Given the description of an element on the screen output the (x, y) to click on. 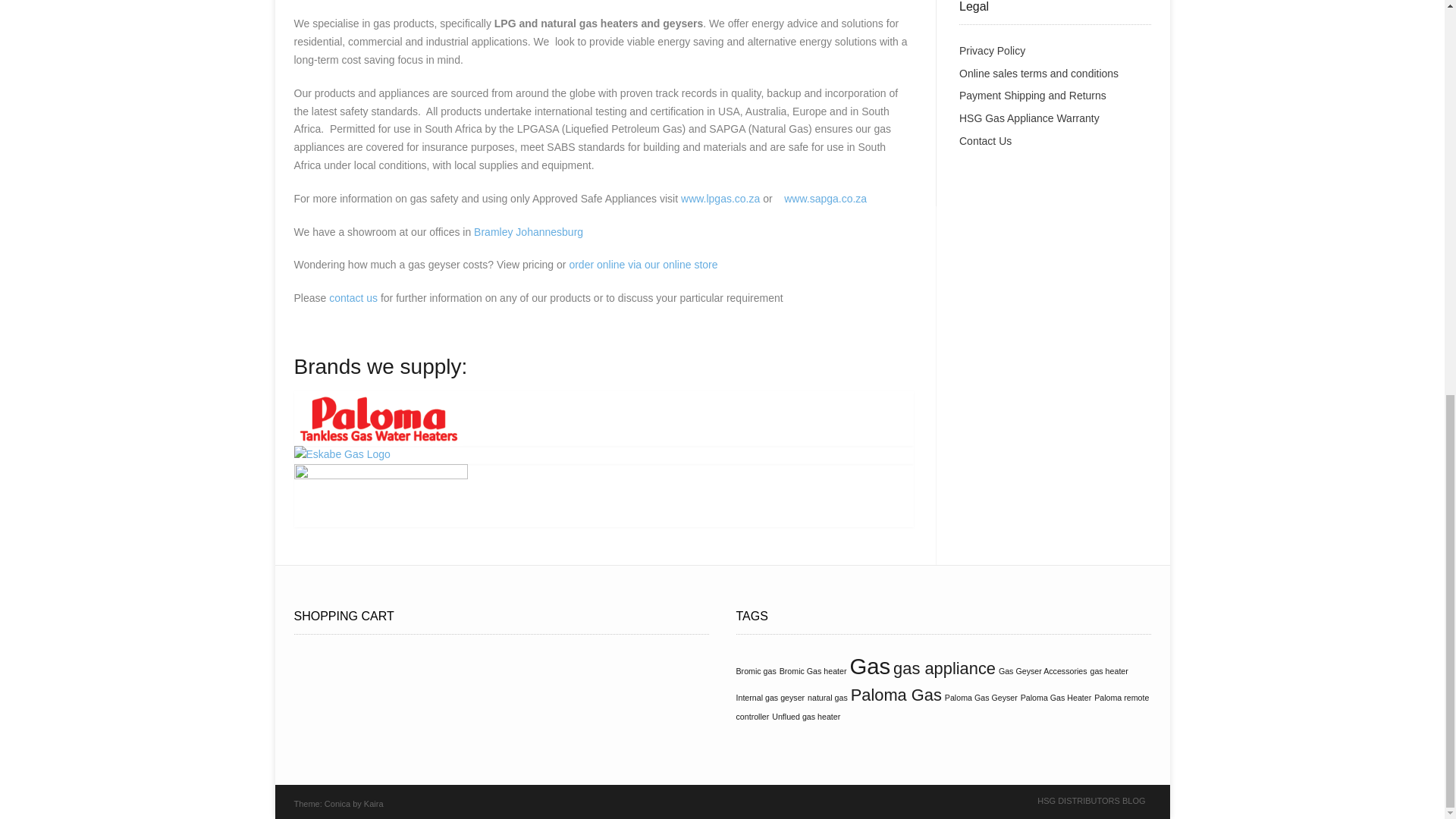
www.lpgas.co.za (720, 198)
Payment Shipping and Returns (1032, 95)
contact us (353, 297)
Gas (868, 665)
Privacy Policy (992, 50)
HSG Gas Appliance Warranty (1029, 118)
Bromic gas (755, 670)
order online via our online store (643, 264)
Bramley Johannesburg (528, 232)
www.sapga.co.za (825, 198)
Online sales terms and conditions (1038, 73)
Bromic Gas heater (812, 670)
Contact Us (985, 141)
